Given the description of an element on the screen output the (x, y) to click on. 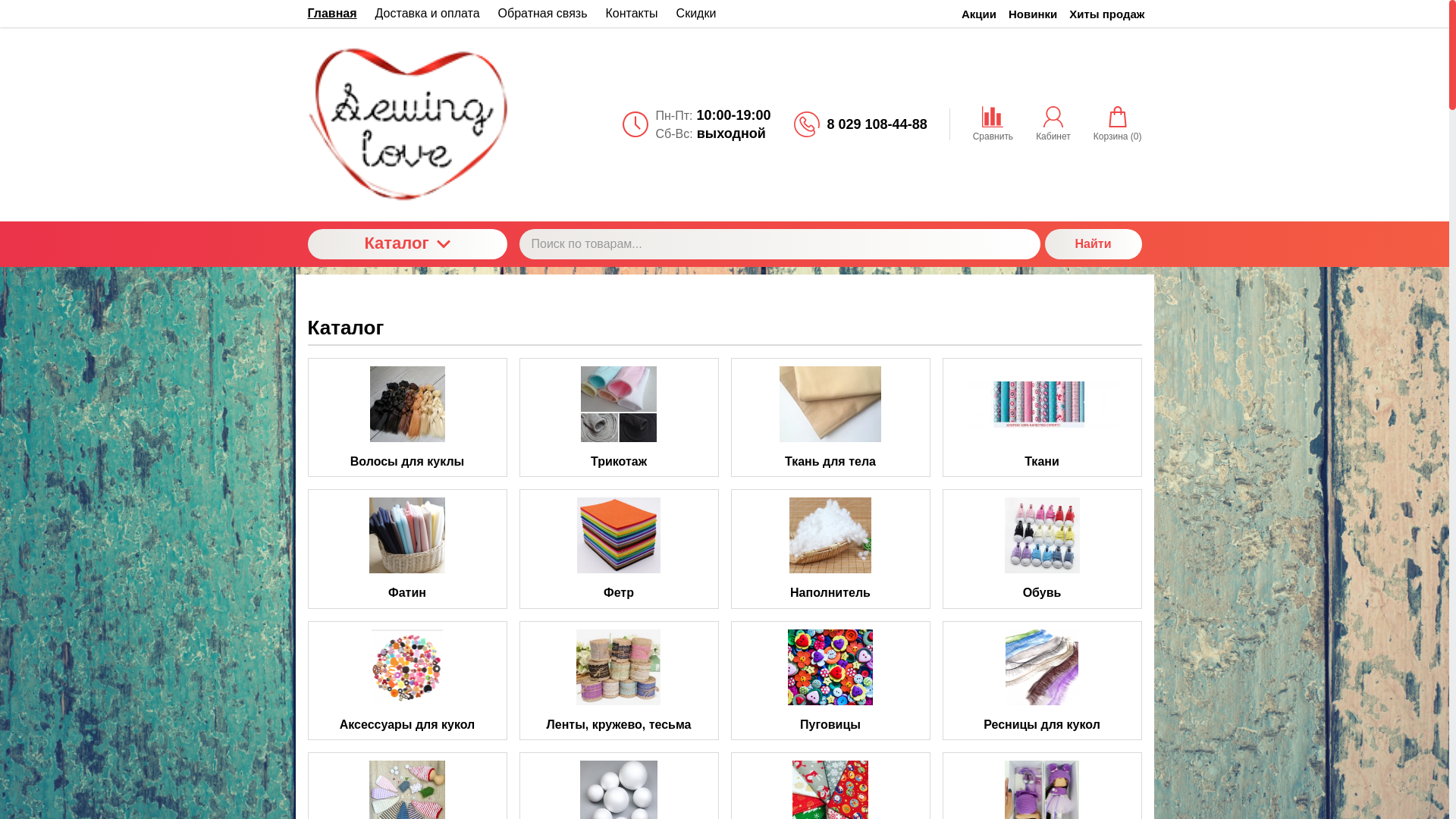
8 029 108-44-88 Element type: text (877, 123)
